Given the description of an element on the screen output the (x, y) to click on. 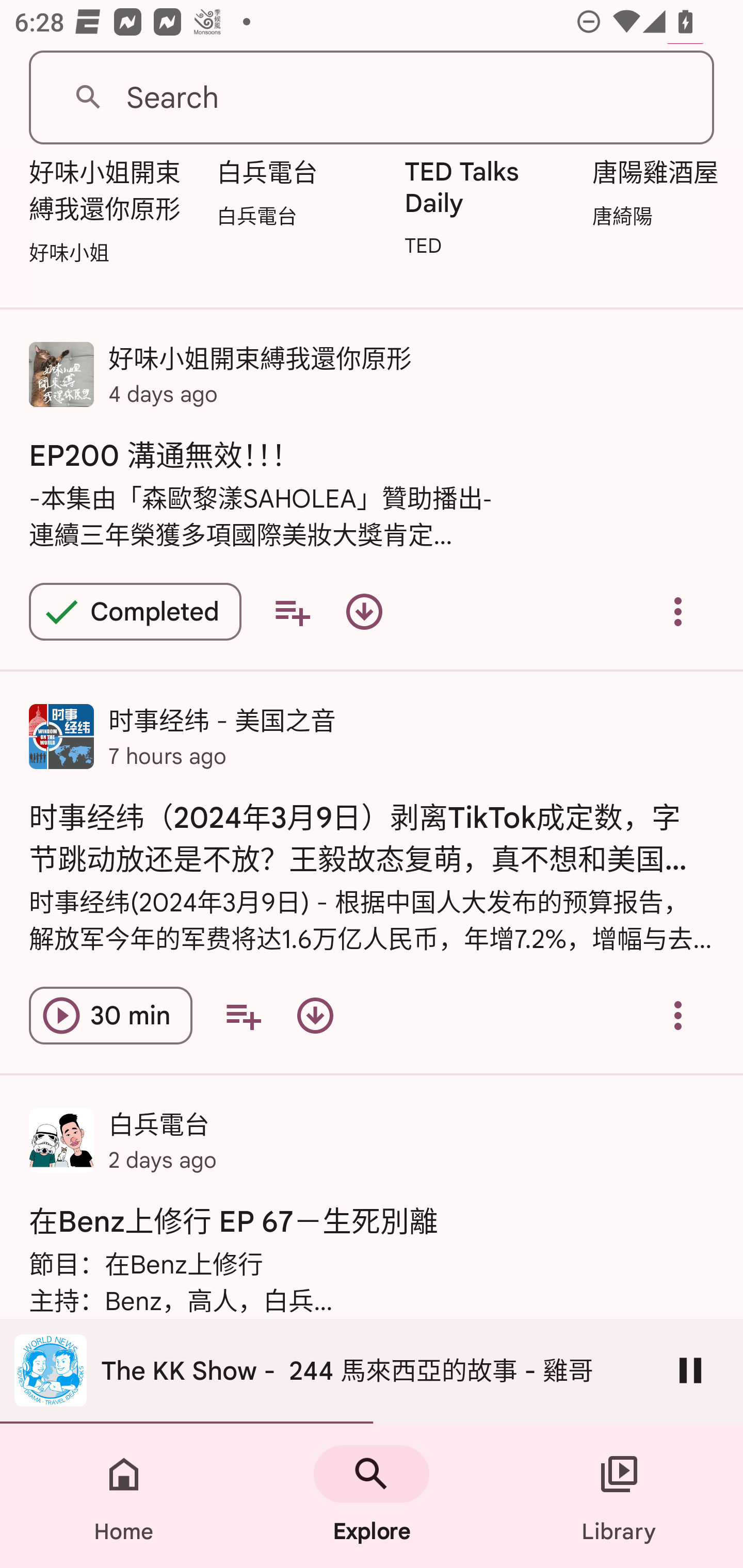
Search (371, 97)
好味小姐開束縛我還你原形 好味小姐 (111, 215)
白兵電台 (299, 196)
TED Talks Daily TED (487, 211)
唐陽雞酒屋 唐綺陽 (662, 196)
Play episode EP200 溝通無效！！！ Completed (134, 611)
Add to your queue (291, 611)
Download episode (364, 611)
Overflow menu (677, 611)
Add to your queue (242, 1015)
Download episode (315, 1015)
Overflow menu (677, 1015)
Pause (690, 1370)
Home (123, 1495)
Library (619, 1495)
